Given the description of an element on the screen output the (x, y) to click on. 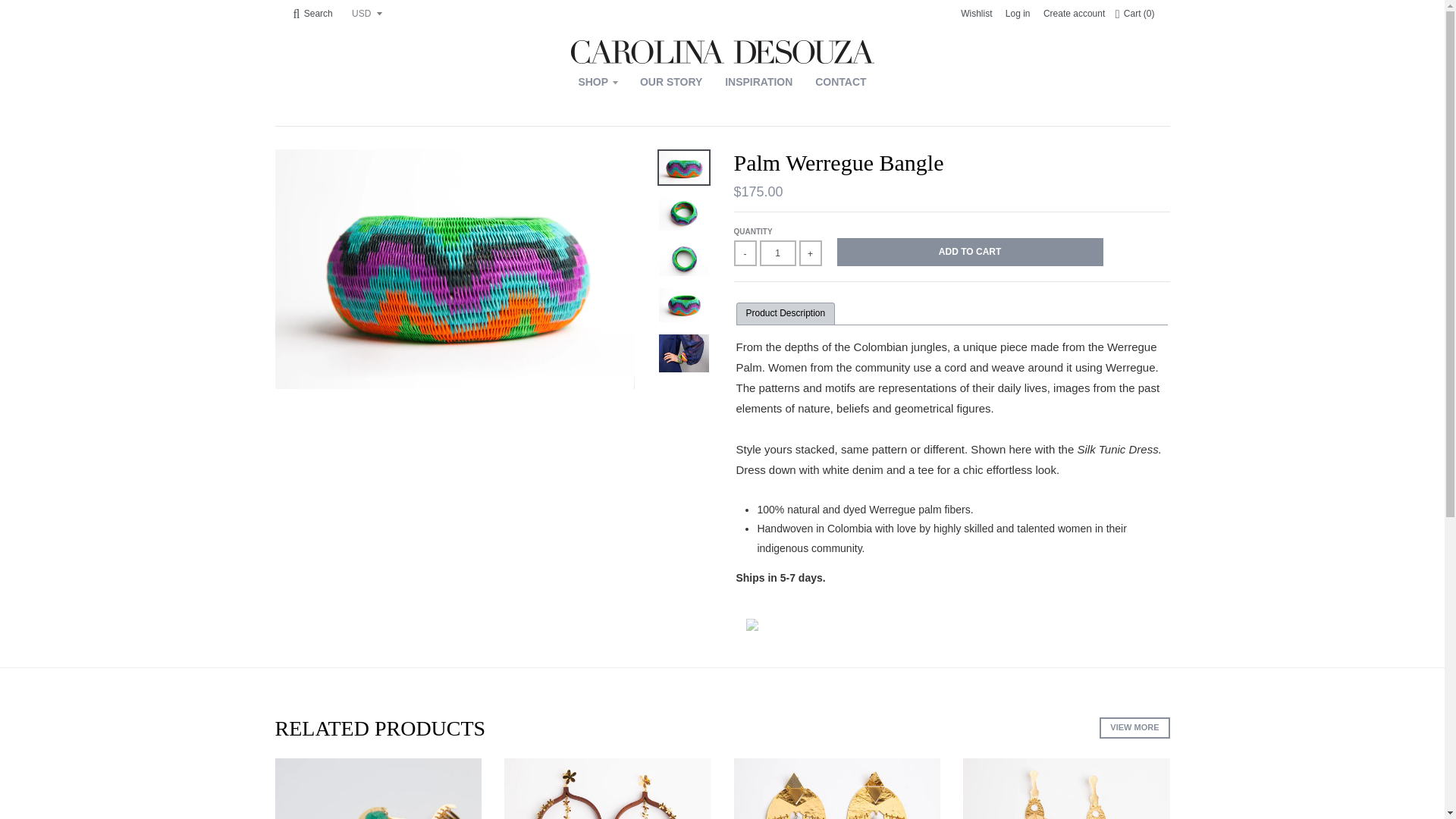
CONTACT (840, 82)
Log in (1018, 14)
Create account (1074, 14)
OUR STORY (670, 82)
Wishlist (976, 14)
1 (778, 253)
INSPIRATION (758, 82)
Search (311, 14)
SHOP (597, 82)
